Given the description of an element on the screen output the (x, y) to click on. 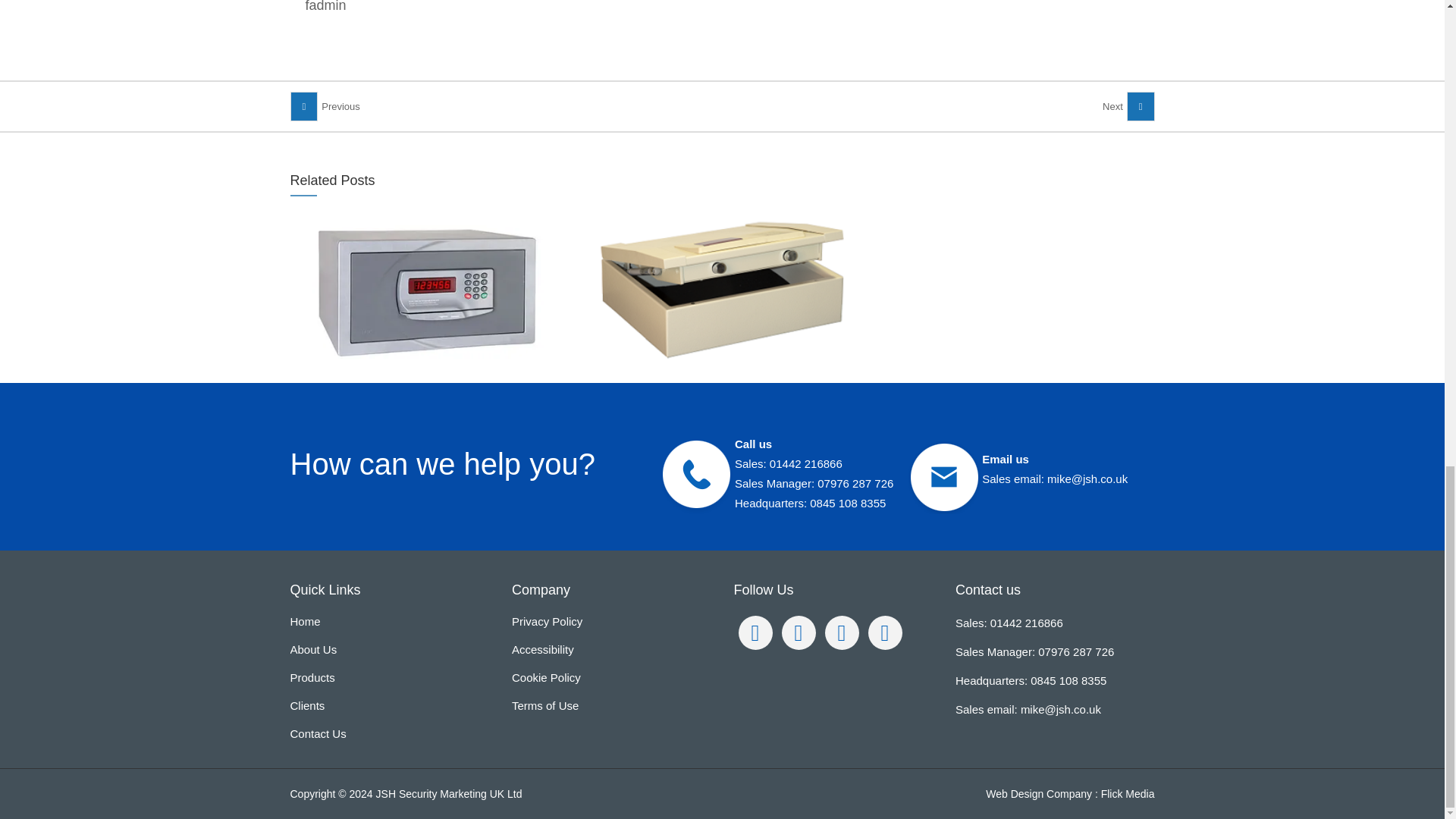
Next (1128, 106)
Posts by fadmin (325, 6)
About Us (389, 650)
0845 108 8355 (847, 502)
Home (389, 624)
Previous (324, 106)
fadmin (325, 6)
01442 216866 (806, 463)
07976 287 726 (854, 482)
